Given the description of an element on the screen output the (x, y) to click on. 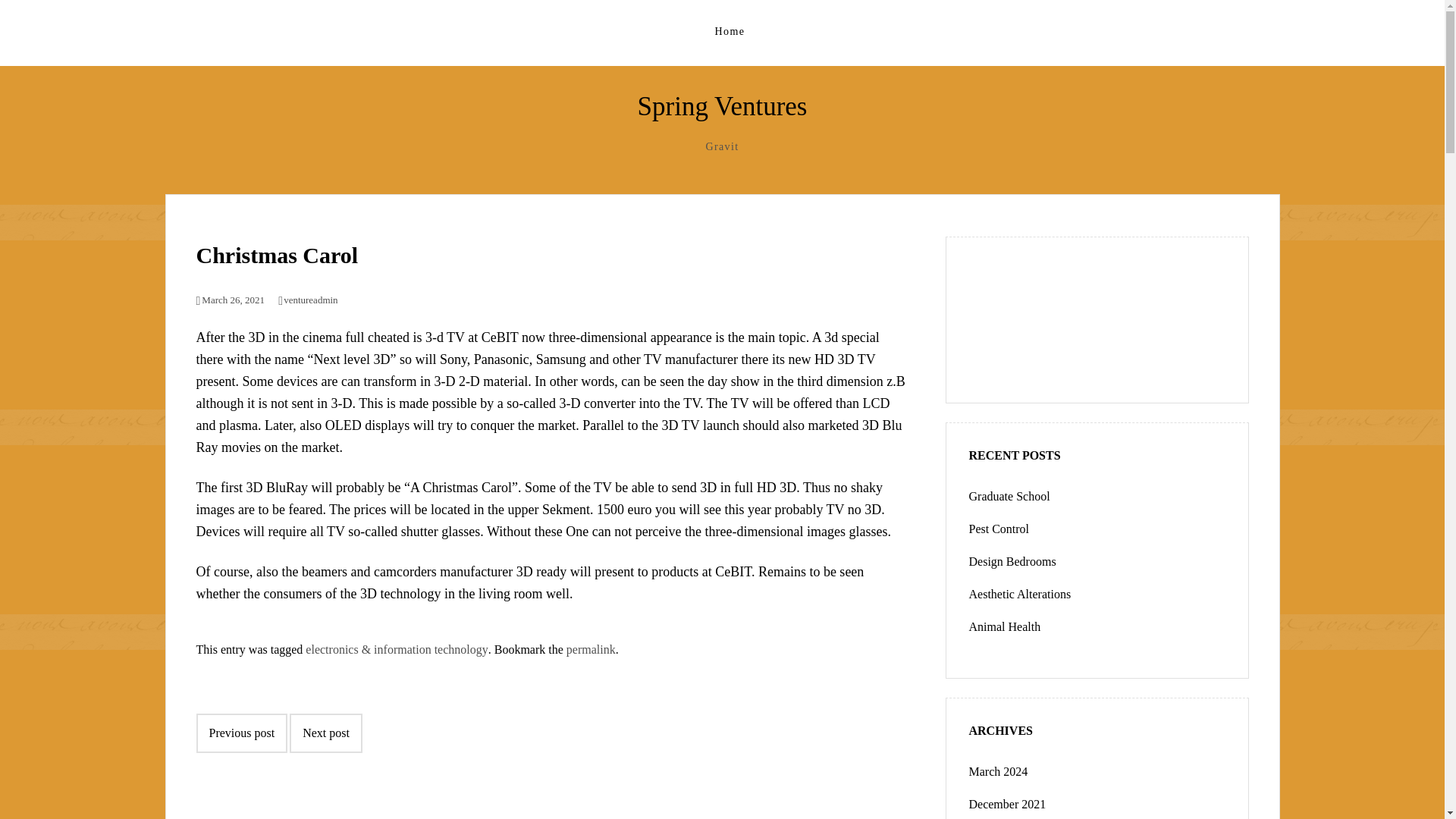
Spring Ventures (722, 106)
Design Bedrooms (1013, 561)
Pest Control (999, 528)
March 26, 2021 (229, 299)
View all posts by ventureadmin (307, 299)
March 2024 (998, 771)
Previous post (240, 732)
Graduate School (1009, 495)
Animal Health (1005, 626)
permalink (590, 649)
